Given the description of an element on the screen output the (x, y) to click on. 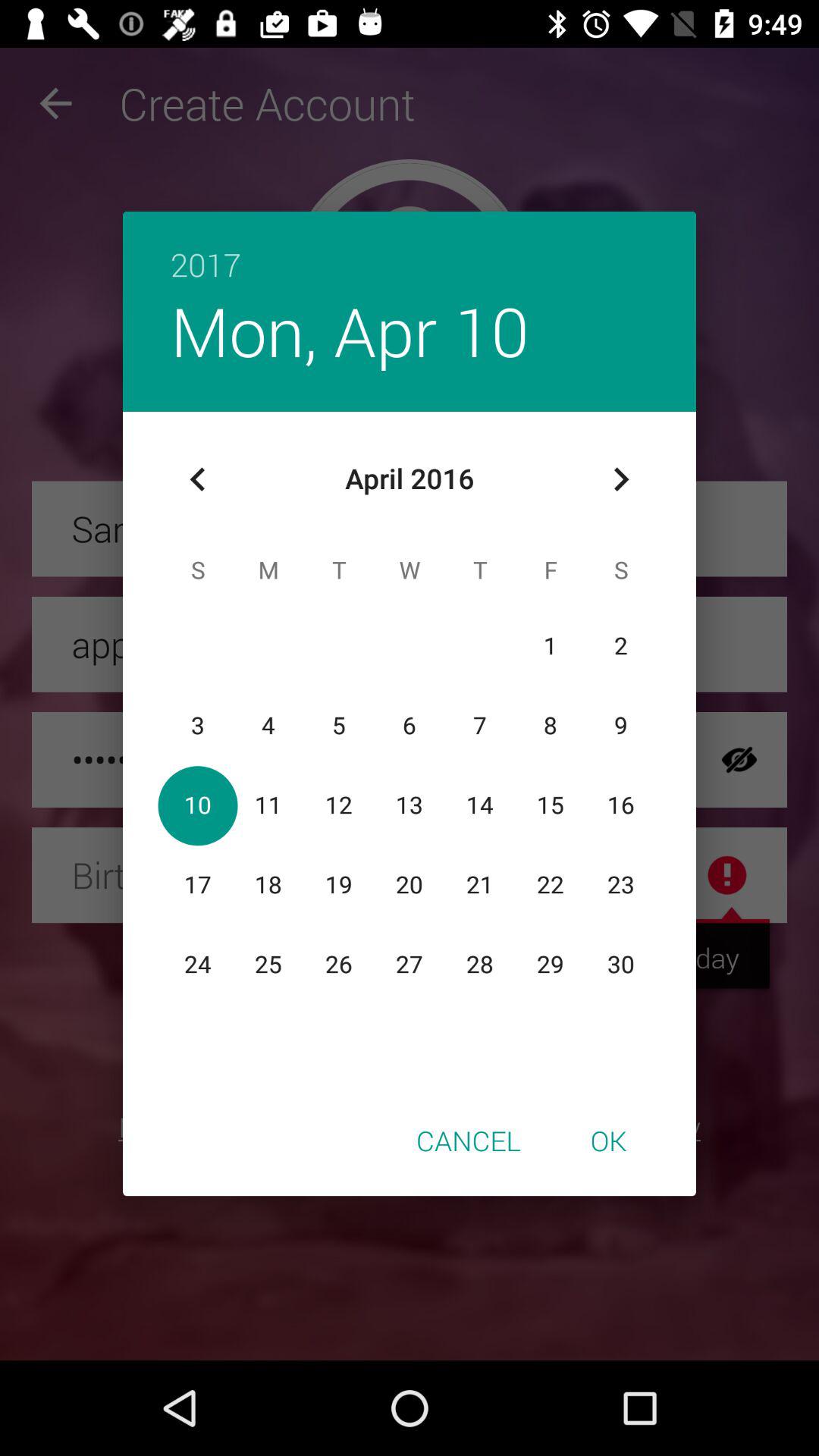
launch the icon below mon, apr 10 item (197, 479)
